Given the description of an element on the screen output the (x, y) to click on. 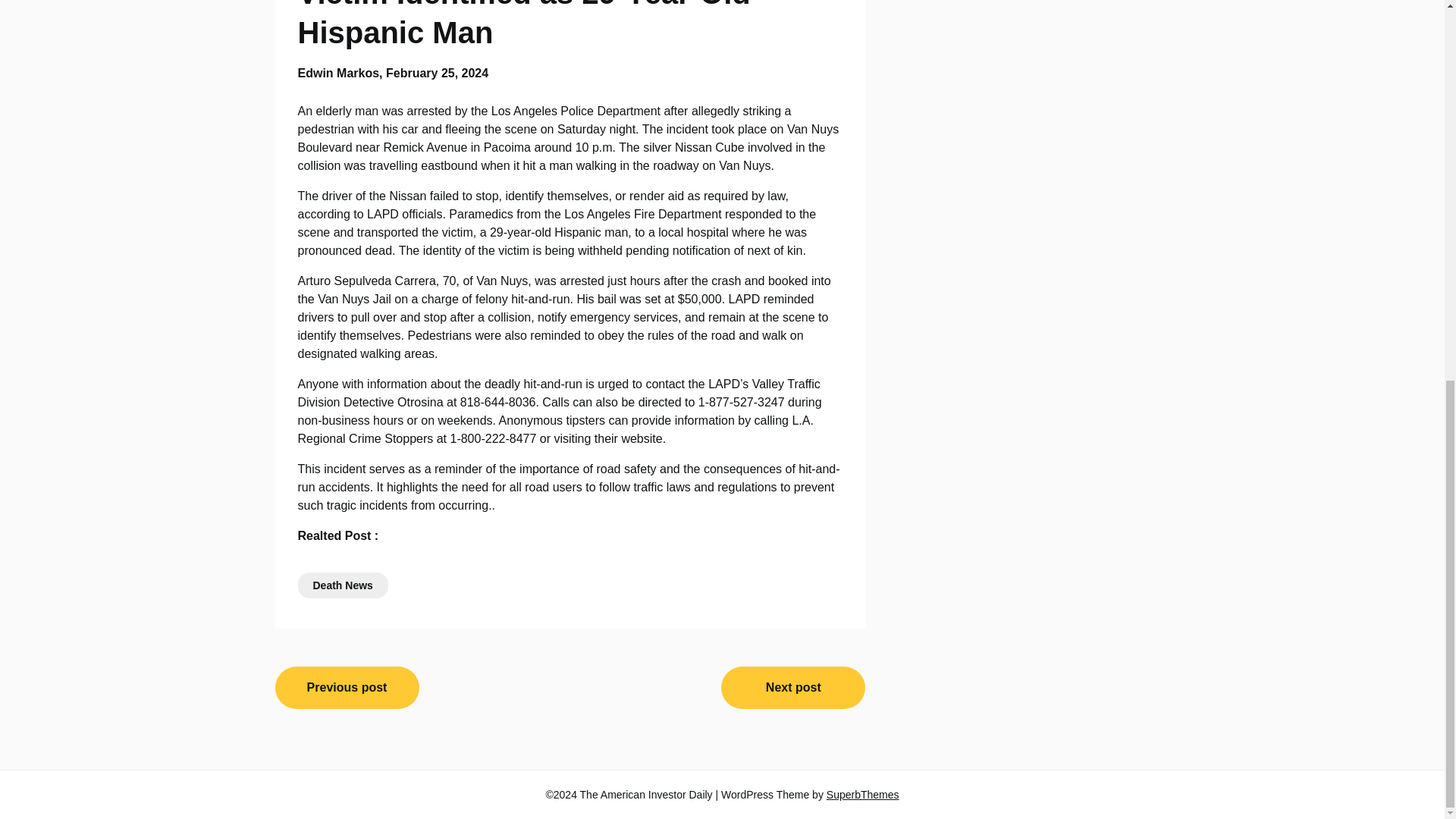
February 25, 2024 (436, 72)
Death News (342, 585)
SuperbThemes (863, 794)
Previous post (347, 687)
Next post (792, 687)
